Given the description of an element on the screen output the (x, y) to click on. 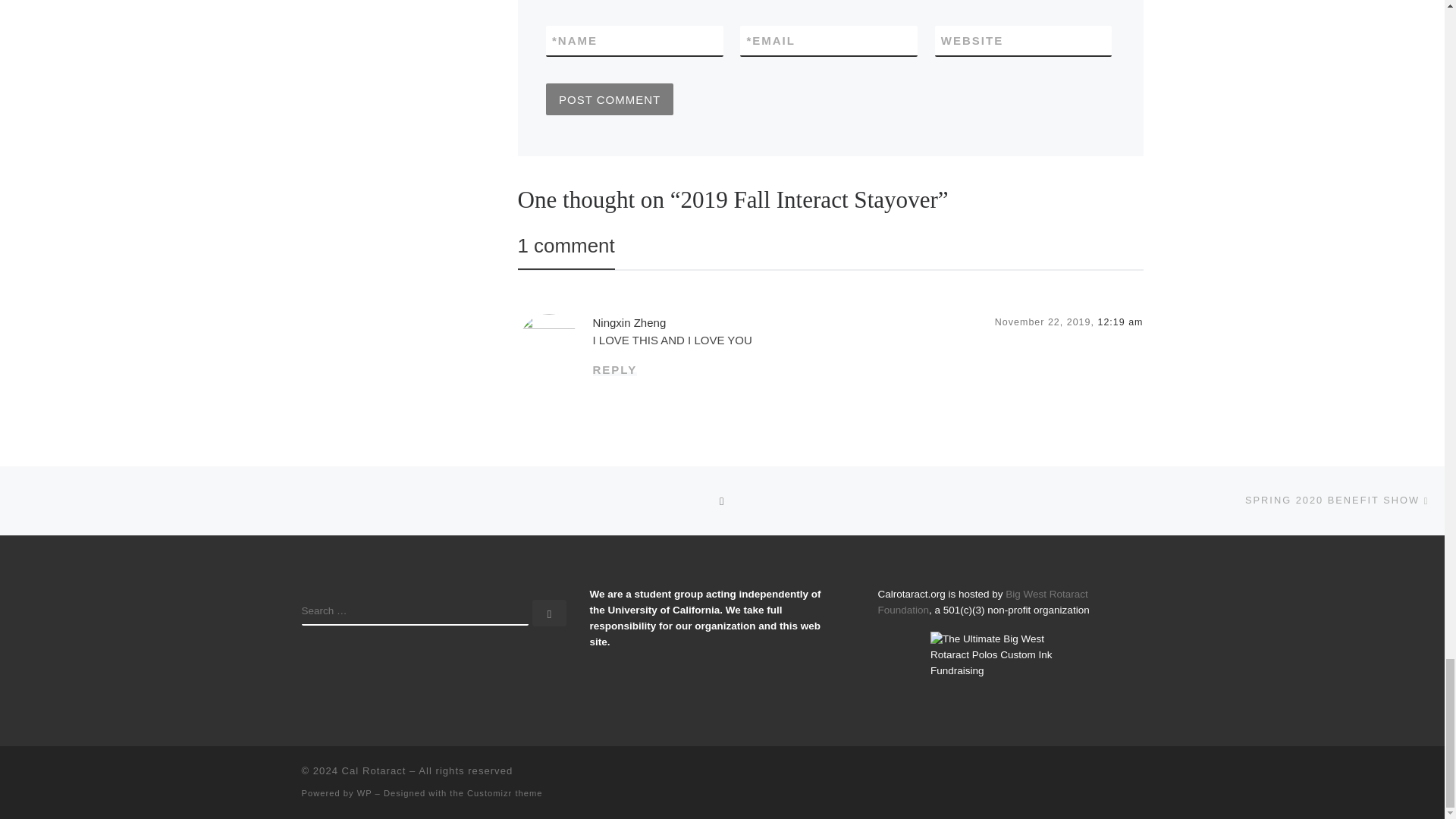
Cal Rotaract (374, 770)
Post Comment (609, 99)
Powered by WordPress (364, 792)
